Given the description of an element on the screen output the (x, y) to click on. 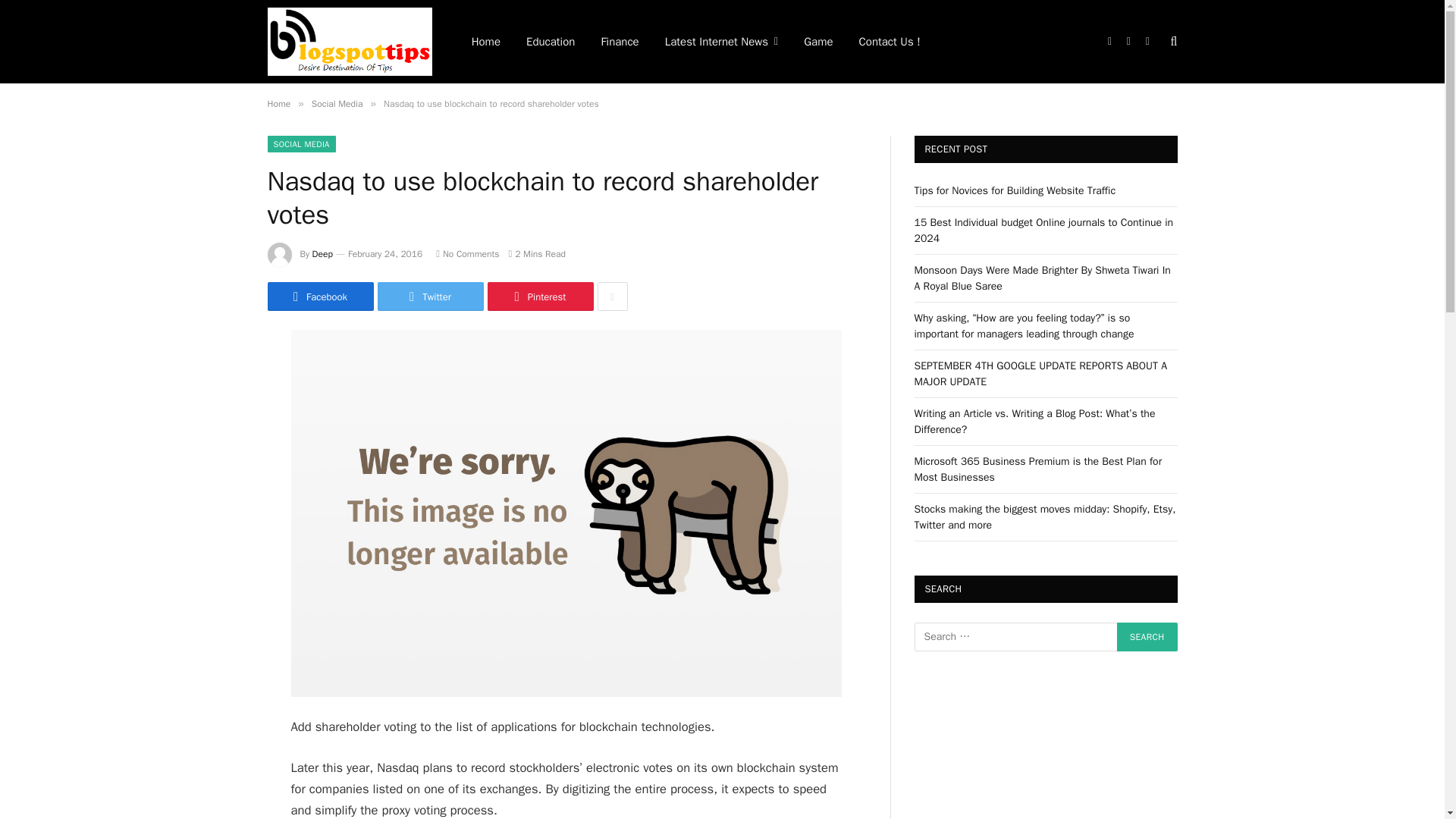
Education (550, 41)
Twitter (430, 296)
Posts by Deep (323, 254)
Pinterest (539, 296)
Share on Facebook (319, 296)
No Comments (467, 254)
BlogSpotTips (348, 41)
Search (1146, 636)
Latest Internet News (721, 41)
SOCIAL MEDIA (300, 143)
